Given the description of an element on the screen output the (x, y) to click on. 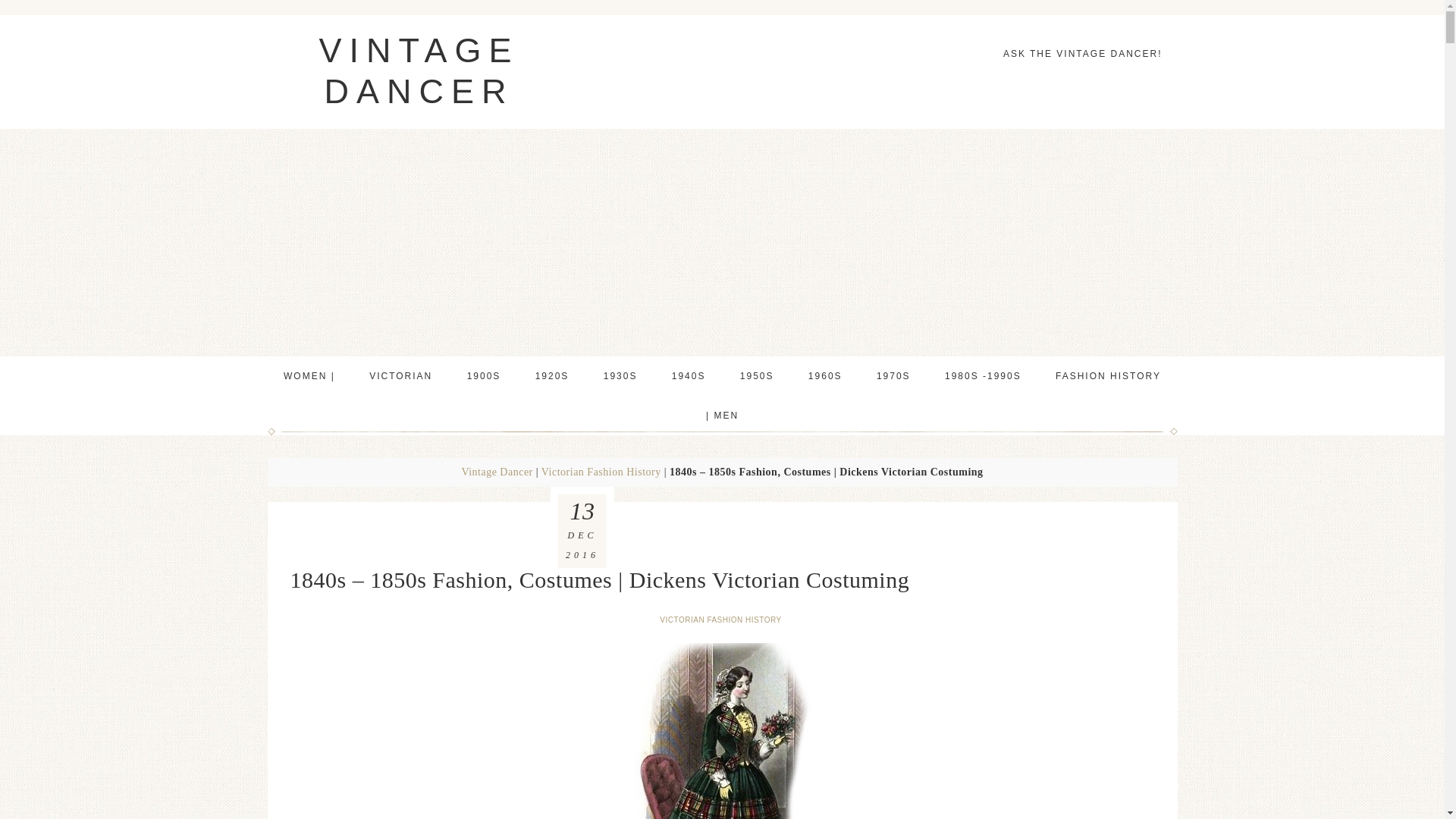
VINTAGE DANCER (418, 70)
VICTORIAN (399, 375)
ASK THE VINTAGE DANCER! (1082, 53)
